Given the description of an element on the screen output the (x, y) to click on. 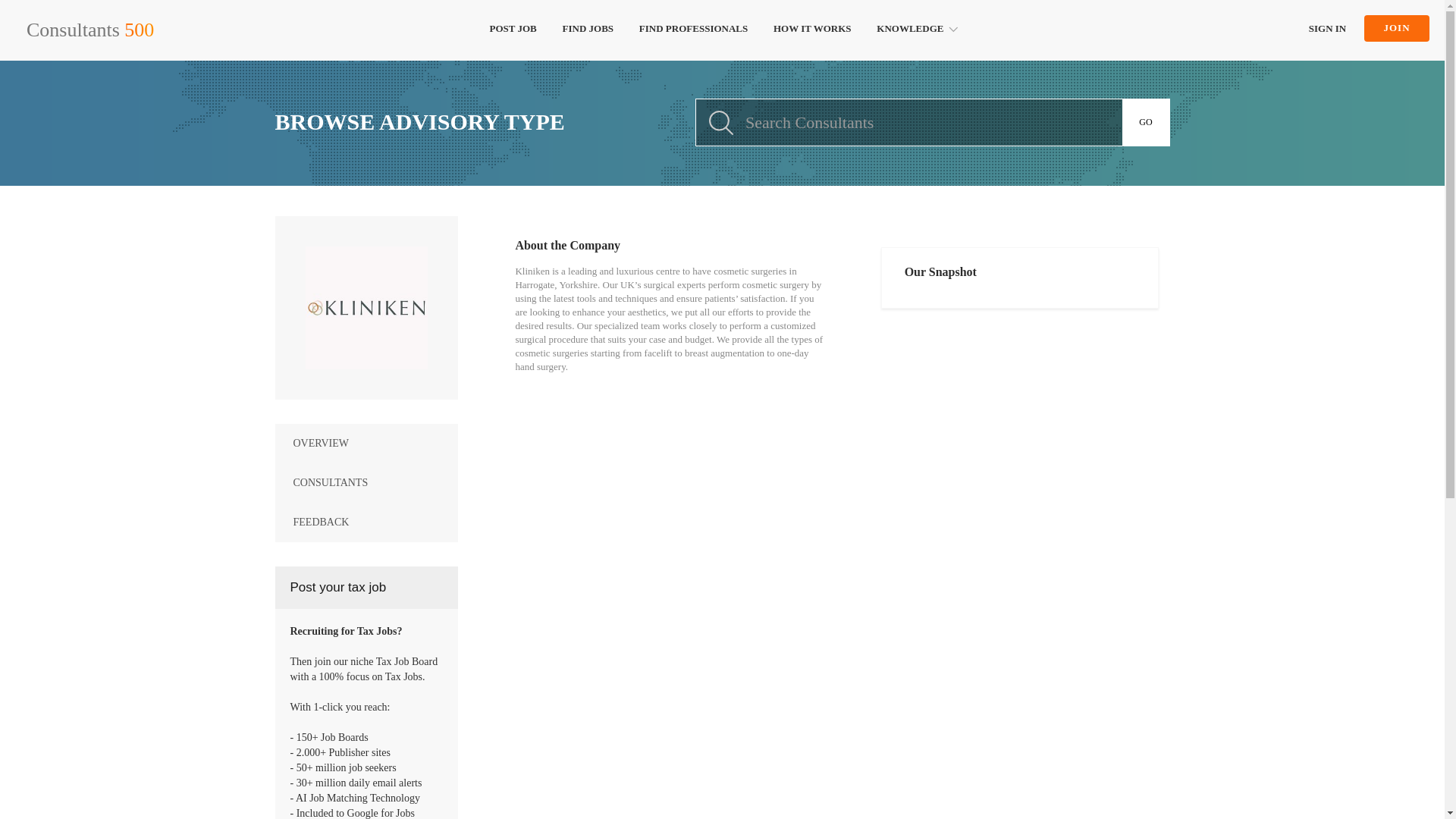
FIND JOBS (588, 30)
FIND PROFESSIONALS (692, 30)
GO (1146, 122)
HOW IT WORKS (812, 30)
Consultants 500 (90, 29)
FEEDBACK (366, 522)
OVERVIEW (366, 443)
KNOWLEDGE (915, 30)
POST JOB (513, 30)
JOIN (1396, 28)
SIGN IN (1327, 28)
Kliniken UK (366, 307)
CONSULTANTS (366, 482)
